Given the description of an element on the screen output the (x, y) to click on. 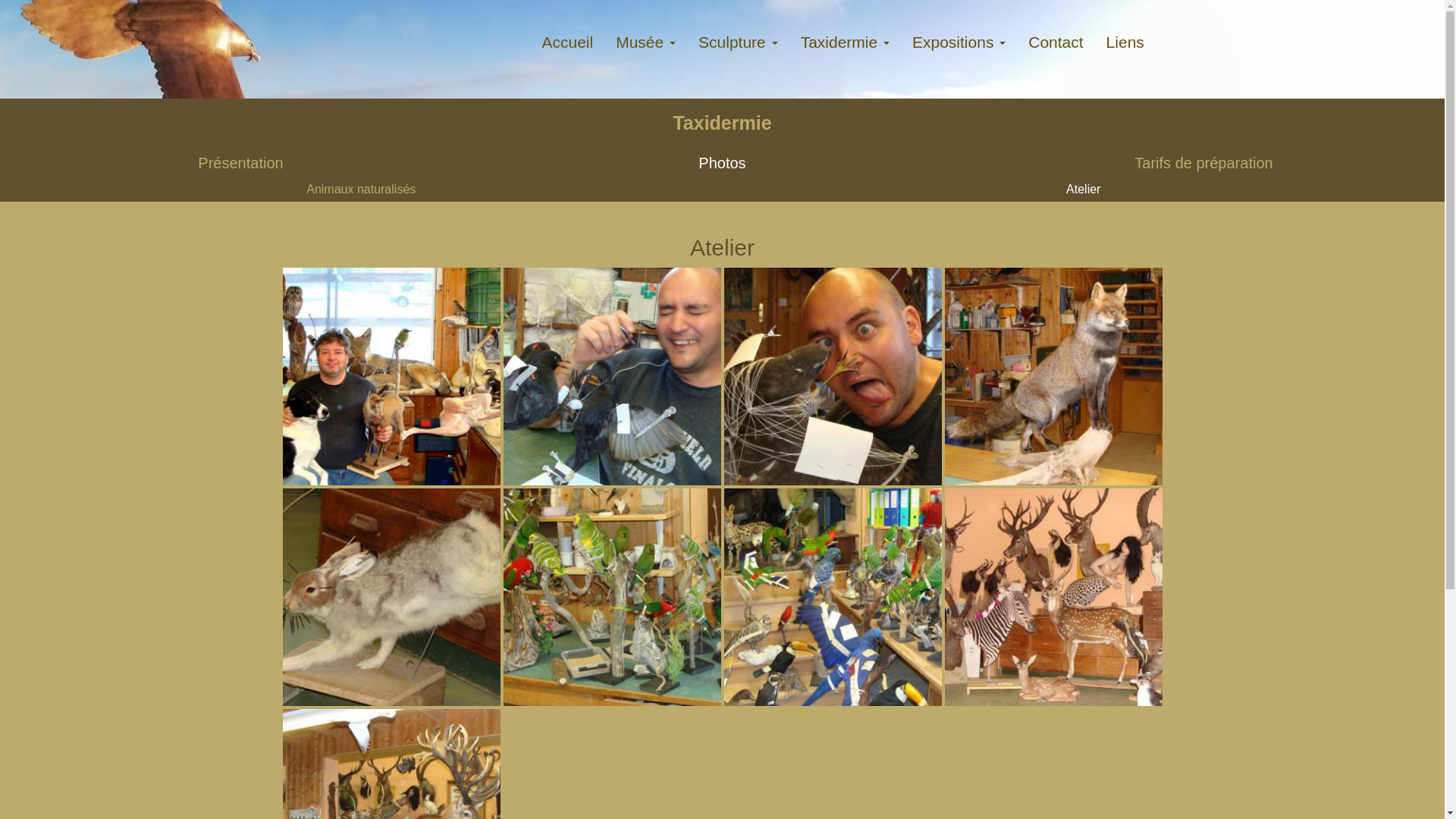
Atelier Element type: text (1083, 188)
Taxidermie Element type: text (844, 42)
Liens Element type: text (1125, 42)
Expositions Element type: text (958, 42)
Photos Element type: text (721, 163)
Contact Element type: text (1055, 42)
Sculpture Element type: text (738, 42)
Accueil Element type: text (567, 42)
